Given the description of an element on the screen output the (x, y) to click on. 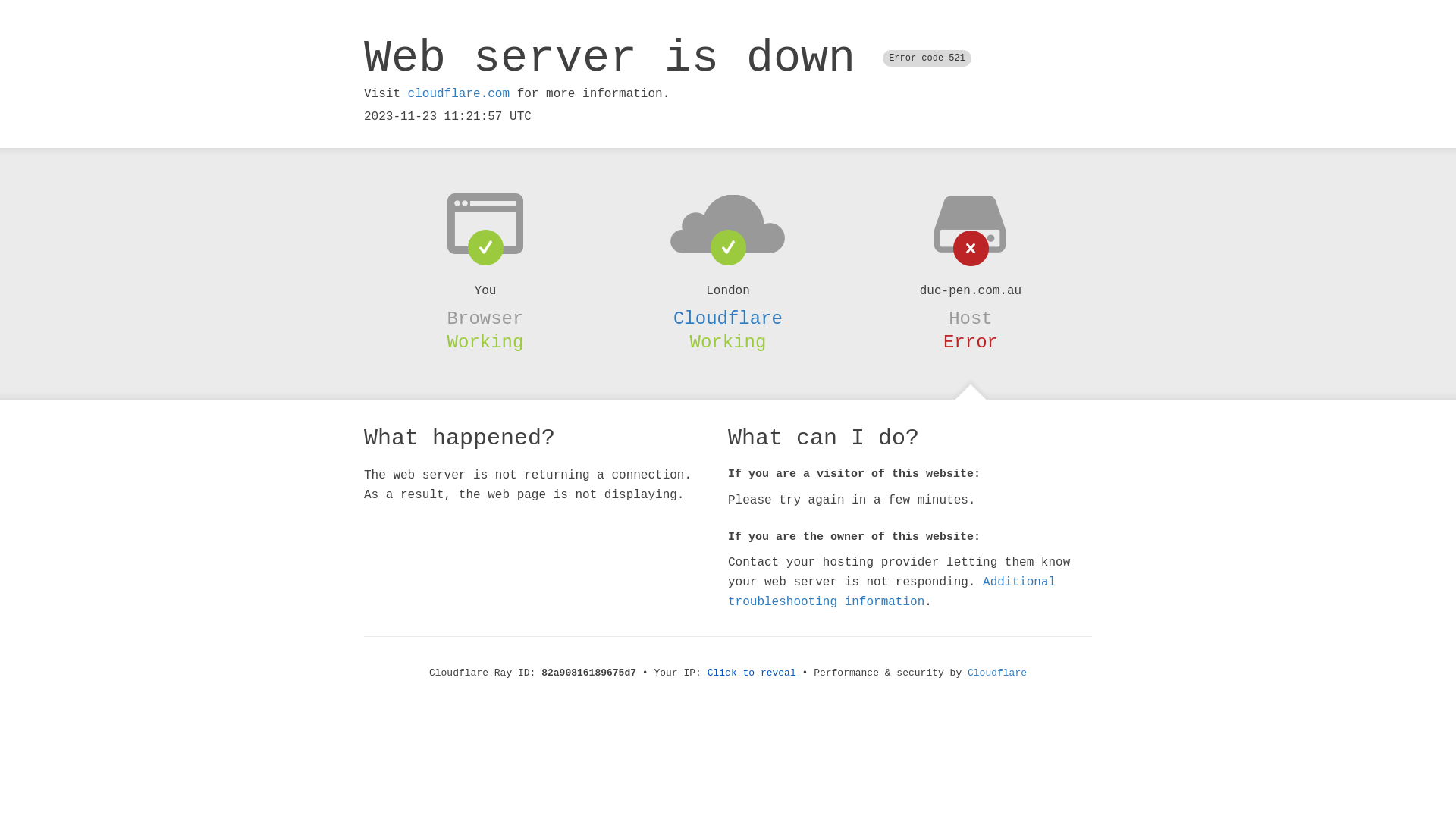
Additional troubleshooting information Element type: text (891, 591)
Cloudflare Element type: text (996, 672)
cloudflare.com Element type: text (458, 93)
Cloudflare Element type: text (727, 318)
Click to reveal Element type: text (751, 672)
